Given the description of an element on the screen output the (x, y) to click on. 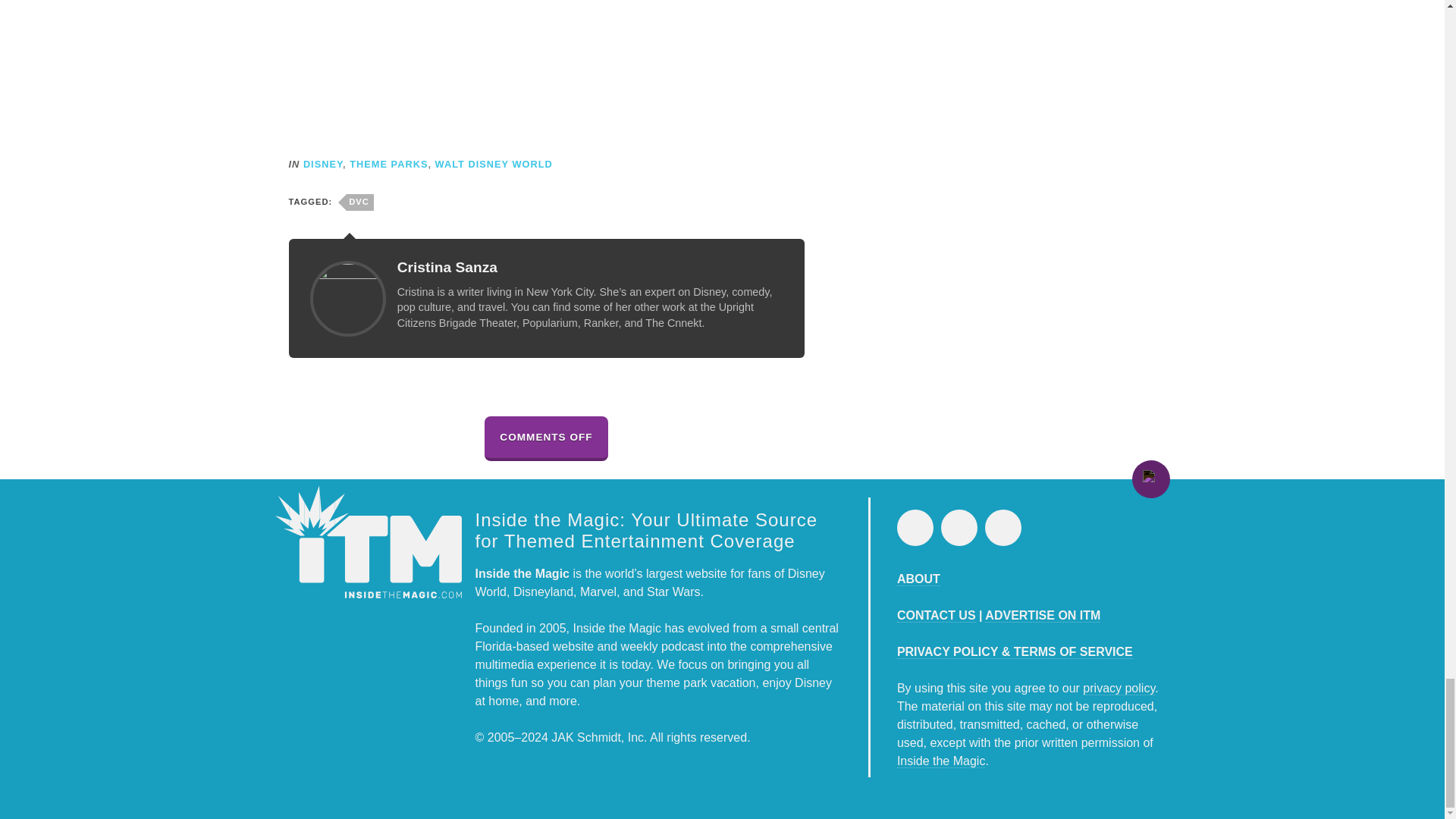
Return to Top (1150, 478)
